Given the description of an element on the screen output the (x, y) to click on. 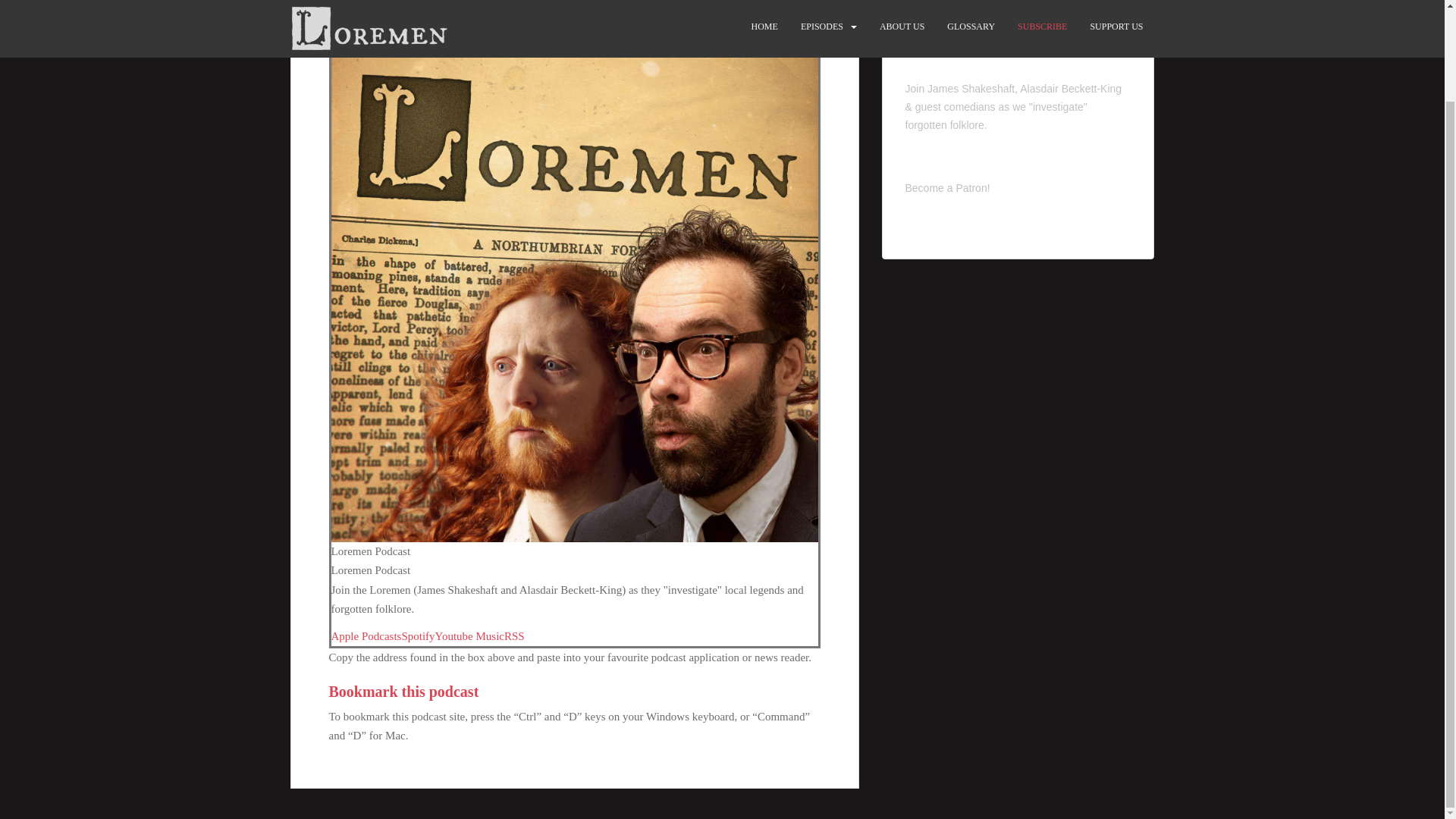
RSS (513, 635)
Apple Podcasts (365, 635)
Subscribe via RSS (513, 635)
Become a Patron! (947, 187)
Spotify (417, 635)
Subscribe on Apple Podcasts (365, 635)
Subscribe on Youtube Music (469, 635)
Youtube Music (469, 635)
Subscribe on Spotify (417, 635)
